Given the description of an element on the screen output the (x, y) to click on. 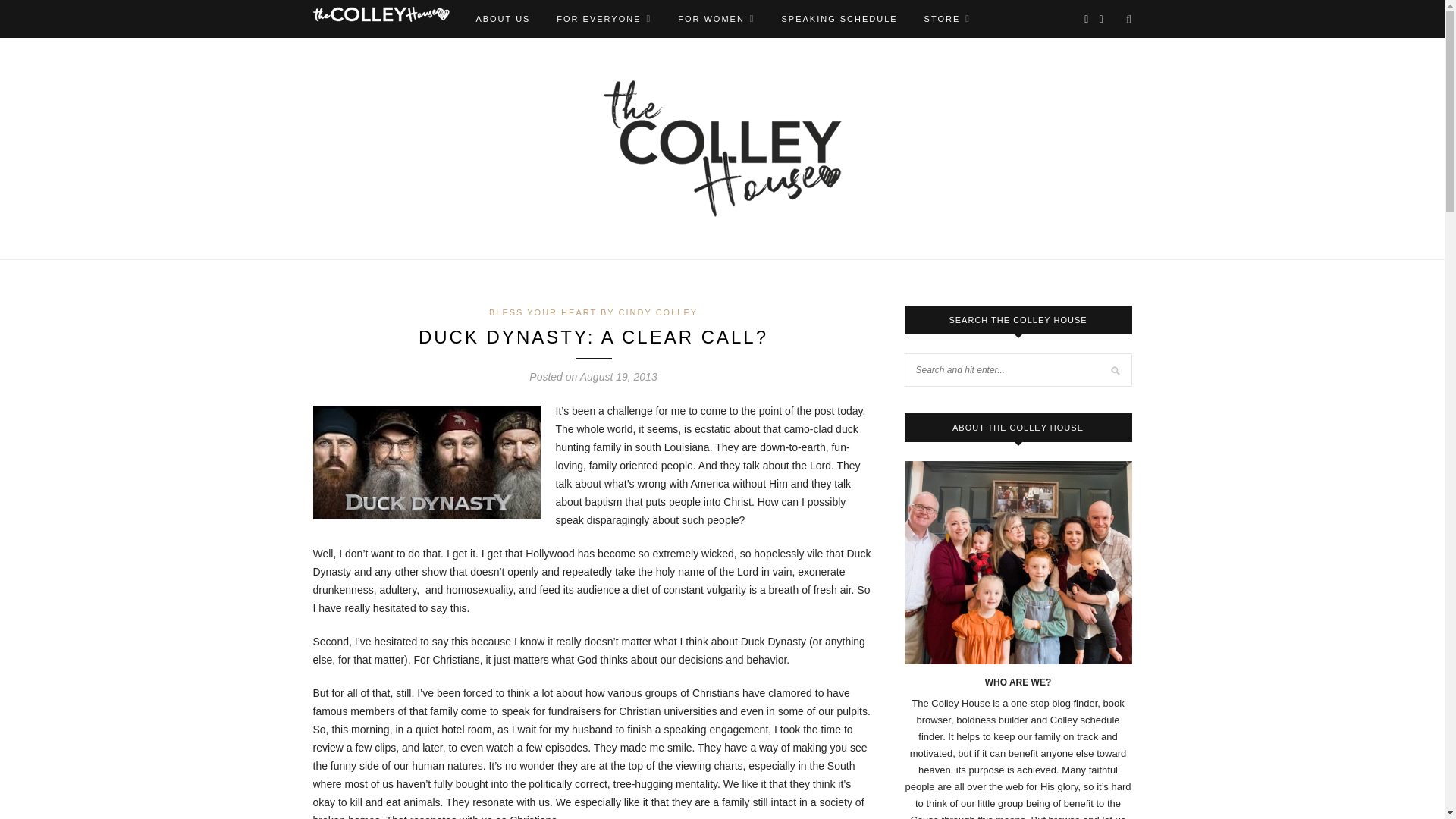
SPEAKING SCHEDULE (838, 18)
FOR EVERYONE (603, 18)
Home (380, 14)
ABOUT US (502, 18)
Welcome! (716, 18)
FOR WOMEN (716, 18)
STORE (947, 18)
BLESS YOUR HEART BY CINDY COLLEY (593, 311)
